Given the description of an element on the screen output the (x, y) to click on. 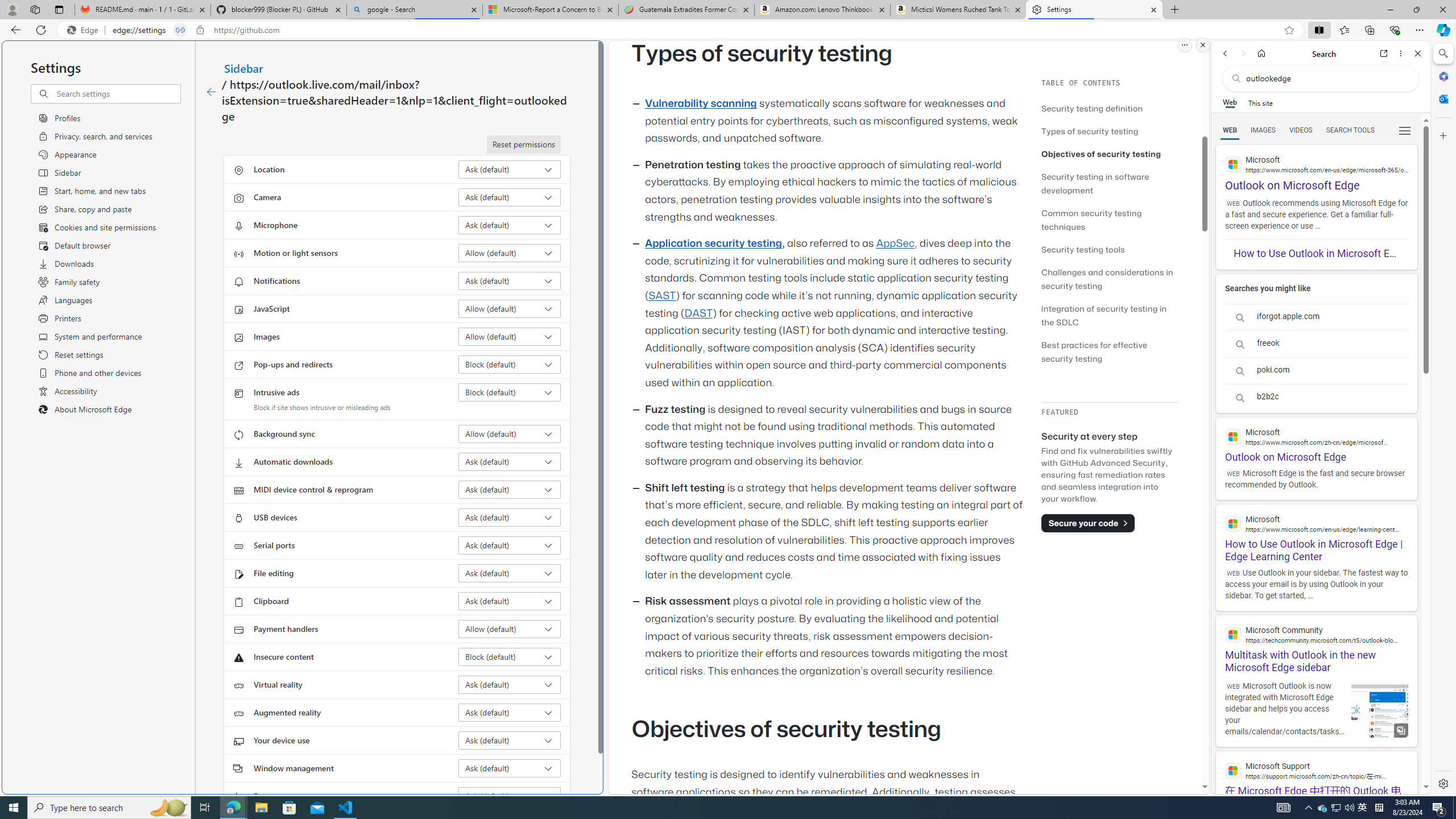
Class: b_serphb (1404, 130)
Web scope (1230, 102)
Challenges and considerations in security testing (1109, 279)
DAST (698, 312)
Serial ports Ask (default) (509, 545)
Augmented reality Ask (default) (509, 712)
Camera Ask (default) (509, 197)
Pop-ups and redirects Block (default) (509, 364)
This site scope (1259, 102)
